Given the description of an element on the screen output the (x, y) to click on. 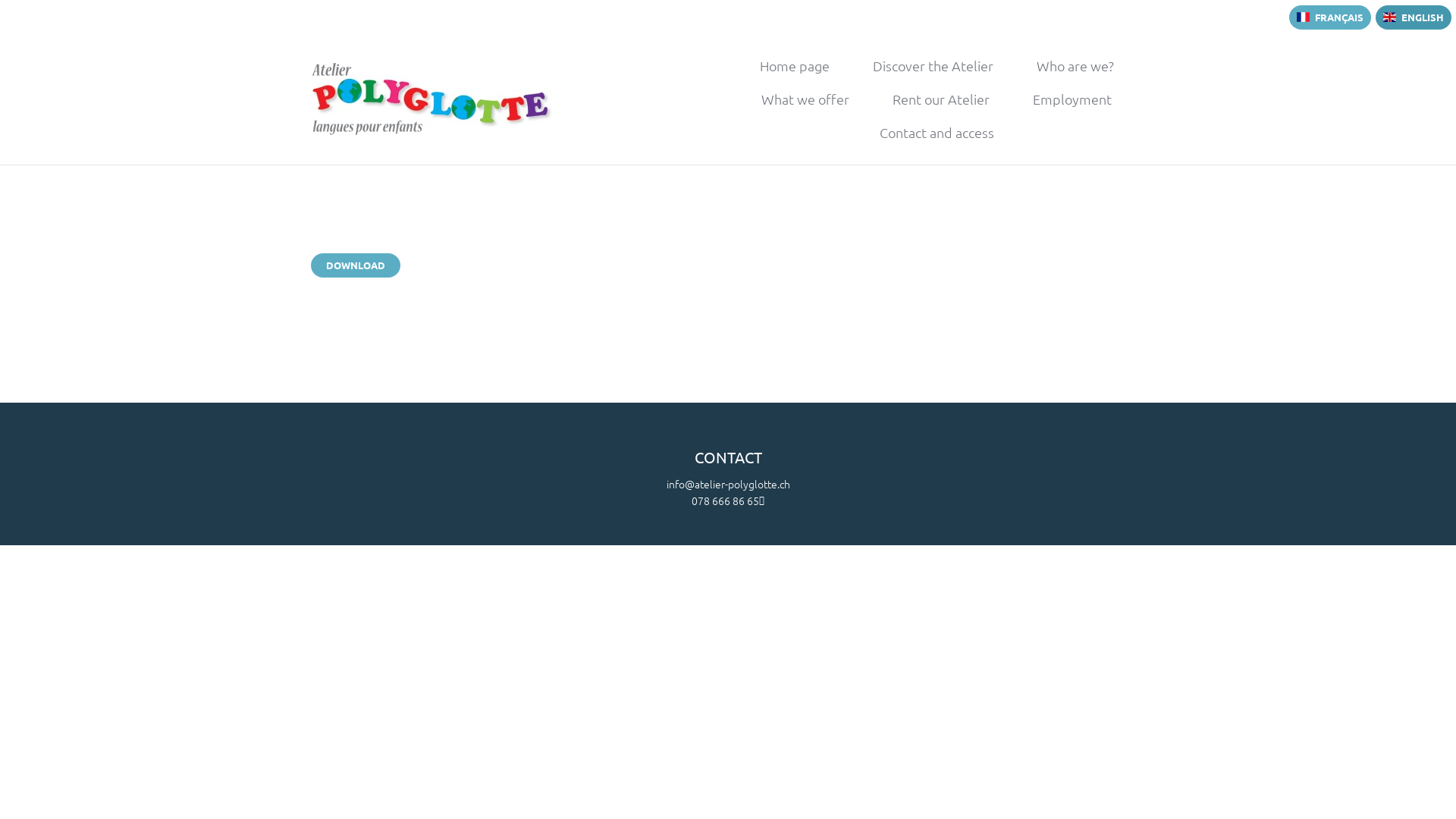
Who are we? Element type: text (1074, 65)
info@atelier-polyglotte.ch Element type: text (727, 483)
logo Element type: hover (431, 98)
Discover the Atelier Element type: text (932, 65)
DOWNLOAD Element type: text (355, 265)
Rent our Atelier Element type: text (940, 99)
Home page Element type: text (794, 65)
Employment Element type: text (1071, 99)
ENGLISH Element type: text (1412, 16)
What we offer Element type: text (805, 99)
078 666 86 65 Element type: text (727, 500)
Contact and access Element type: text (936, 132)
